Given the description of an element on the screen output the (x, y) to click on. 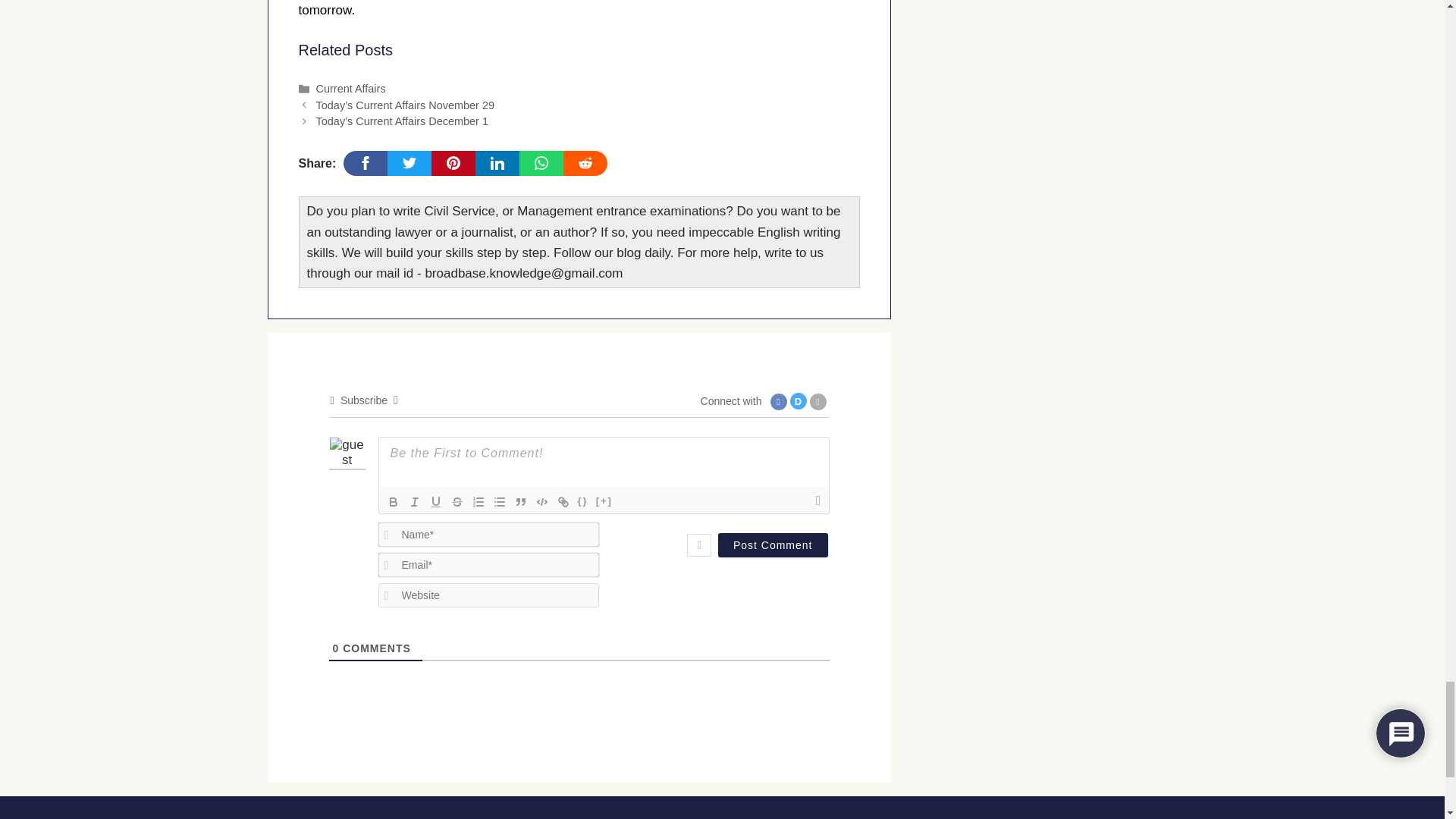
Post Comment (772, 545)
Italic (414, 502)
Bold (392, 502)
Ordered List (477, 502)
Code Block (541, 502)
Underline (435, 502)
Unordered List (498, 502)
Blockquote (520, 502)
Strike (456, 502)
